Given the description of an element on the screen output the (x, y) to click on. 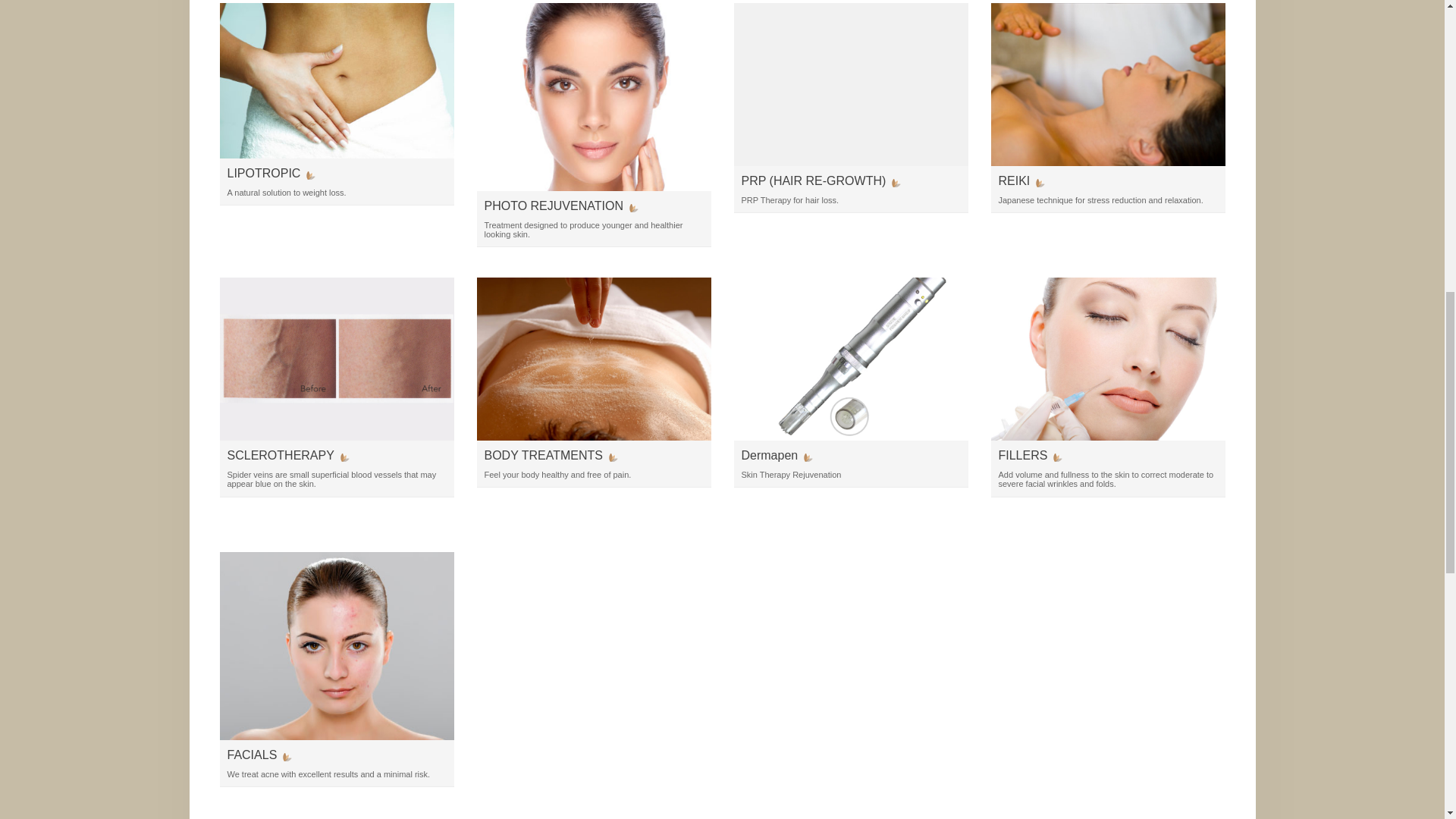
PHOTO REJUVENATION (560, 205)
LIPOTROPIC (271, 173)
REIKI (1021, 180)
